Given the description of an element on the screen output the (x, y) to click on. 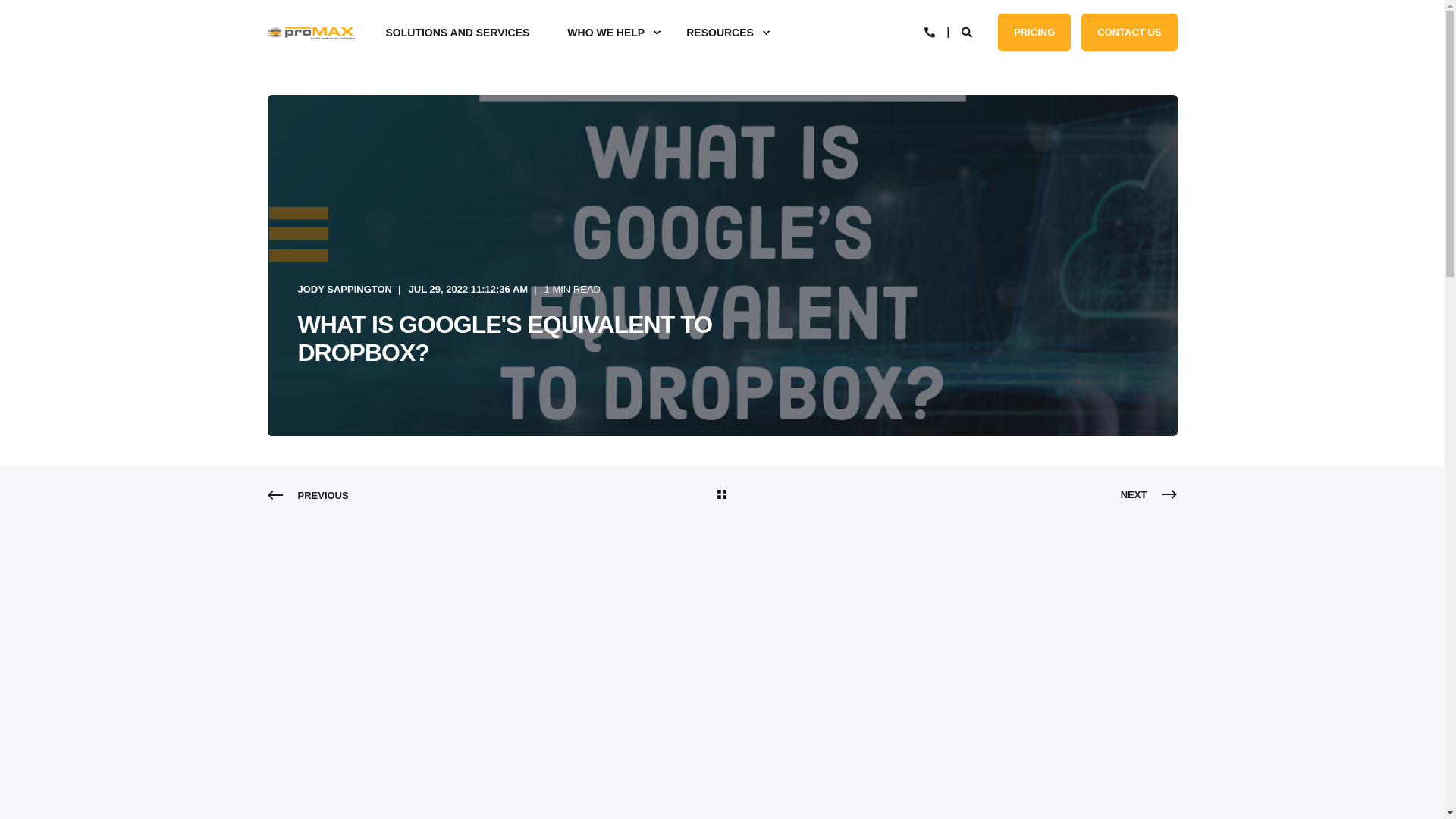
Button Pricing (1033, 32)
SOLUTIONS AND SERVICES (466, 32)
What is Google's Alternative to Dropbox (722, 687)
CONTACT US (1128, 32)
RESOURCES (721, 32)
PRICING (1033, 32)
Button Contact Us (1128, 32)
WHO WE HELP (607, 32)
